Given the description of an element on the screen output the (x, y) to click on. 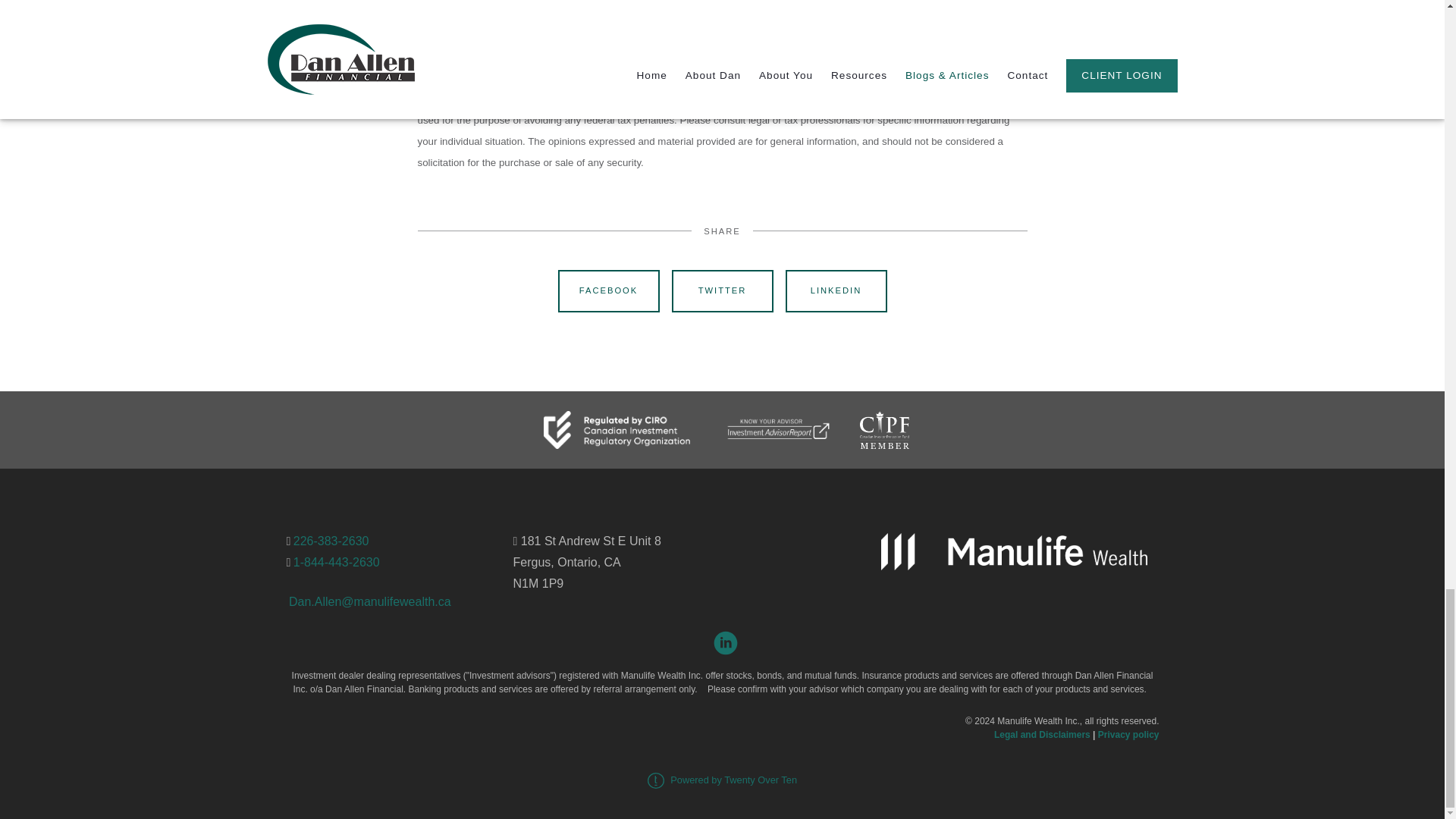
Legal and Disclaimers (1042, 734)
TWITTER (722, 291)
Powered by Twenty Over Ten (721, 779)
LINKEDIN (836, 291)
1-844-443-2630 (337, 562)
Privacy policy (1127, 734)
FACEBOOK (608, 291)
226-383-2630 (331, 540)
